Given the description of an element on the screen output the (x, y) to click on. 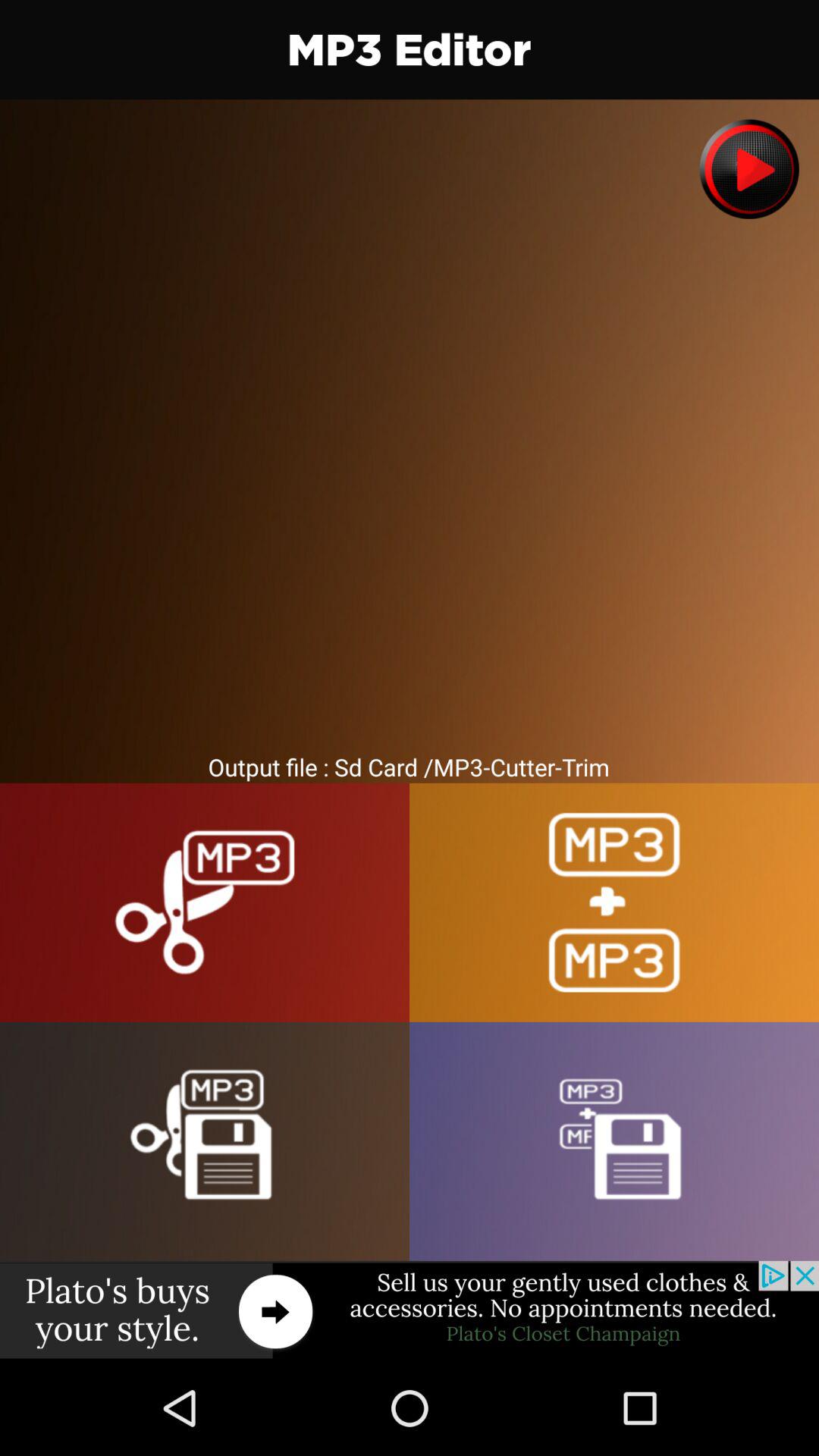
open advertisement (409, 1310)
